Given the description of an element on the screen output the (x, y) to click on. 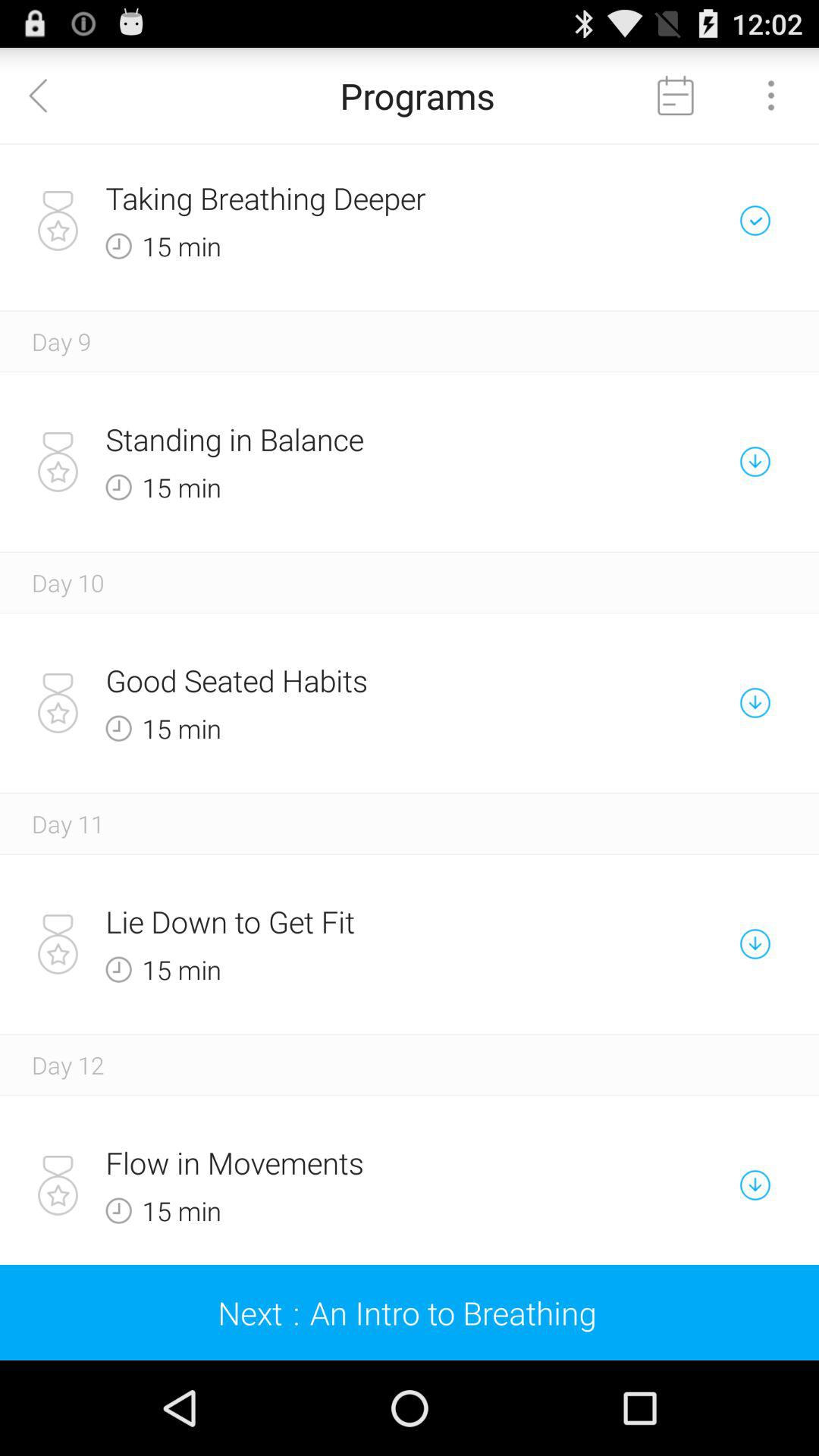
scroll to the day 12 (67, 1064)
